Given the description of an element on the screen output the (x, y) to click on. 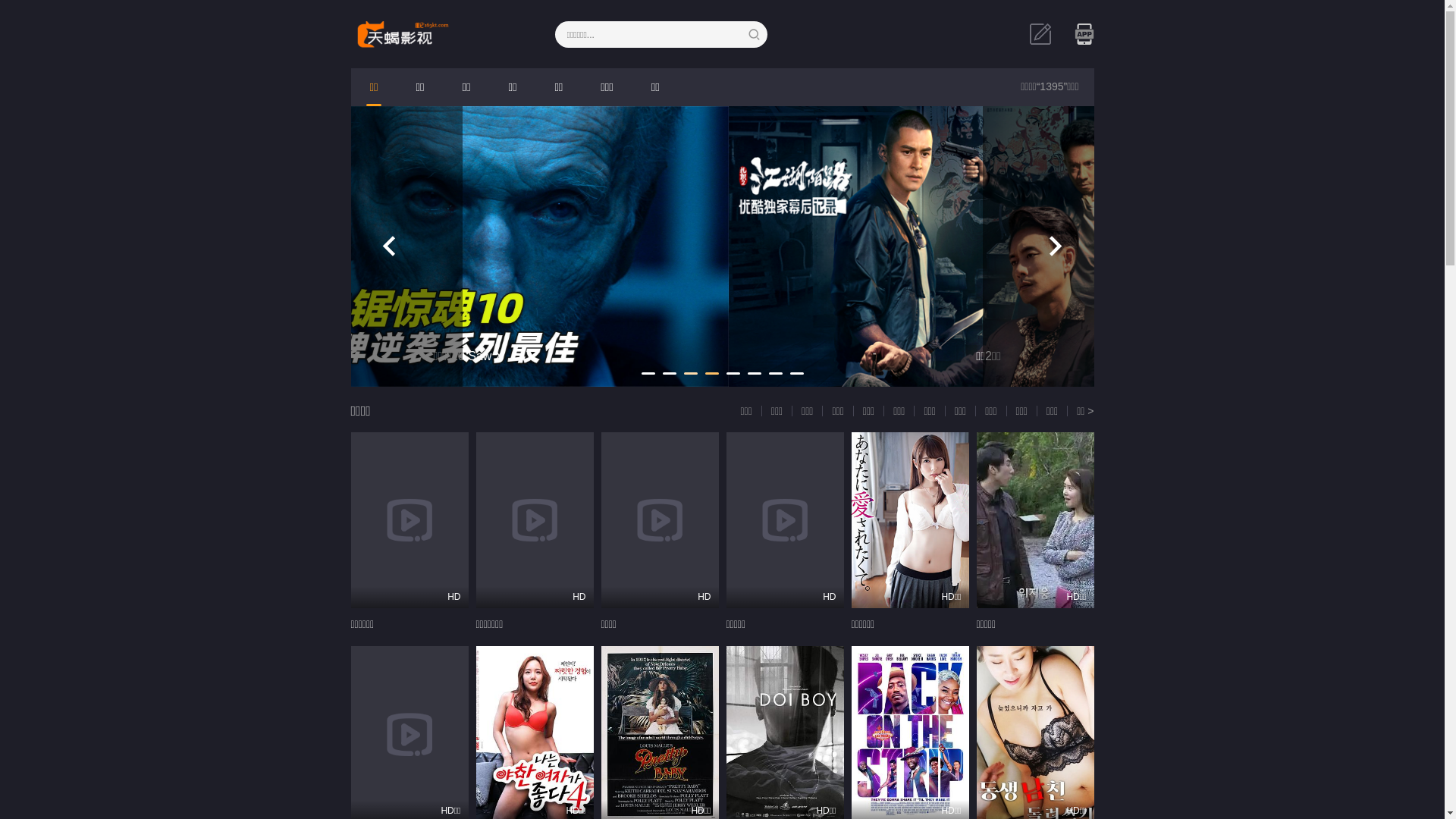
chevron_right Element type: text (1055, 245)
chevron_left Element type: text (389, 245)
HD Element type: text (534, 520)
HD Element type: text (785, 520)
HD Element type: text (408, 520)
HD Element type: text (659, 520)
